Given the description of an element on the screen output the (x, y) to click on. 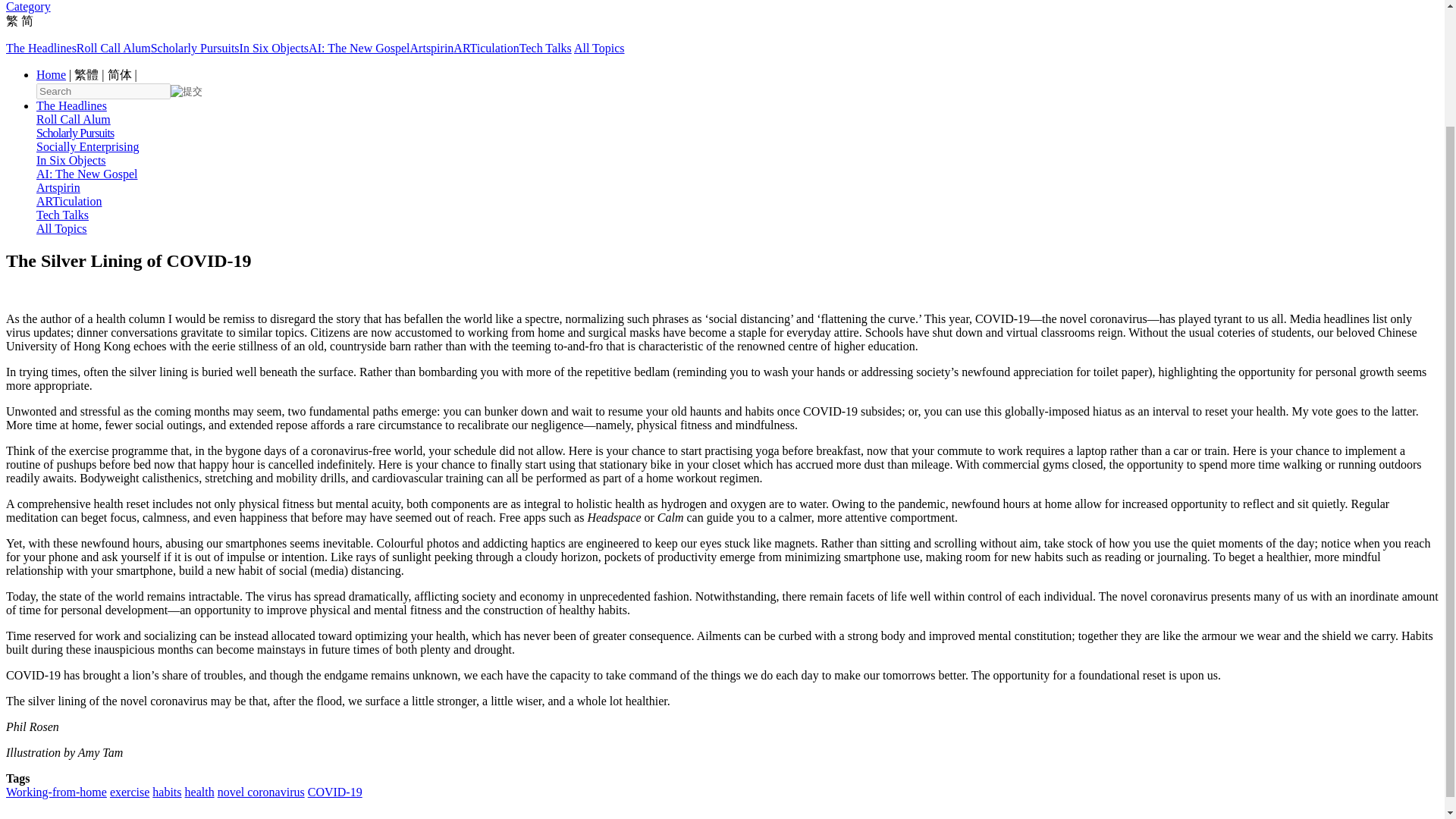
ARTiculation (485, 47)
Artspirin (58, 187)
Category (27, 6)
ARTiculation (68, 201)
Scholarly Pursuits (195, 47)
AI: The New Gospel (86, 173)
habits (166, 791)
Tech Talks (62, 214)
Roll Call Alum (114, 47)
Socially Enterprising (87, 146)
health (199, 791)
All Topics (61, 228)
novel coronavirus (260, 791)
Artspirin (432, 47)
All Topics (598, 47)
